Given the description of an element on the screen output the (x, y) to click on. 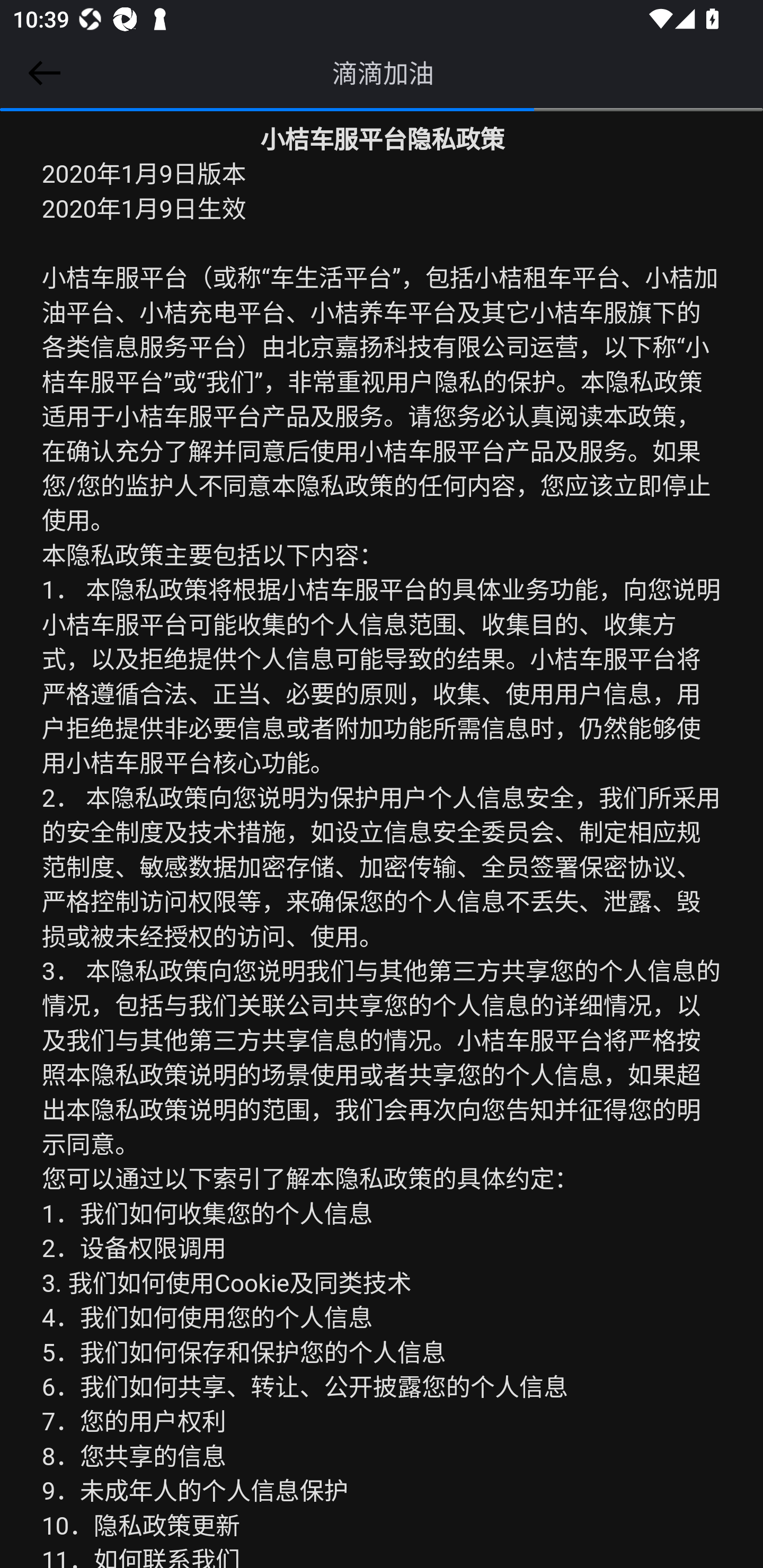
 (41, 72)
